Given the description of an element on the screen output the (x, y) to click on. 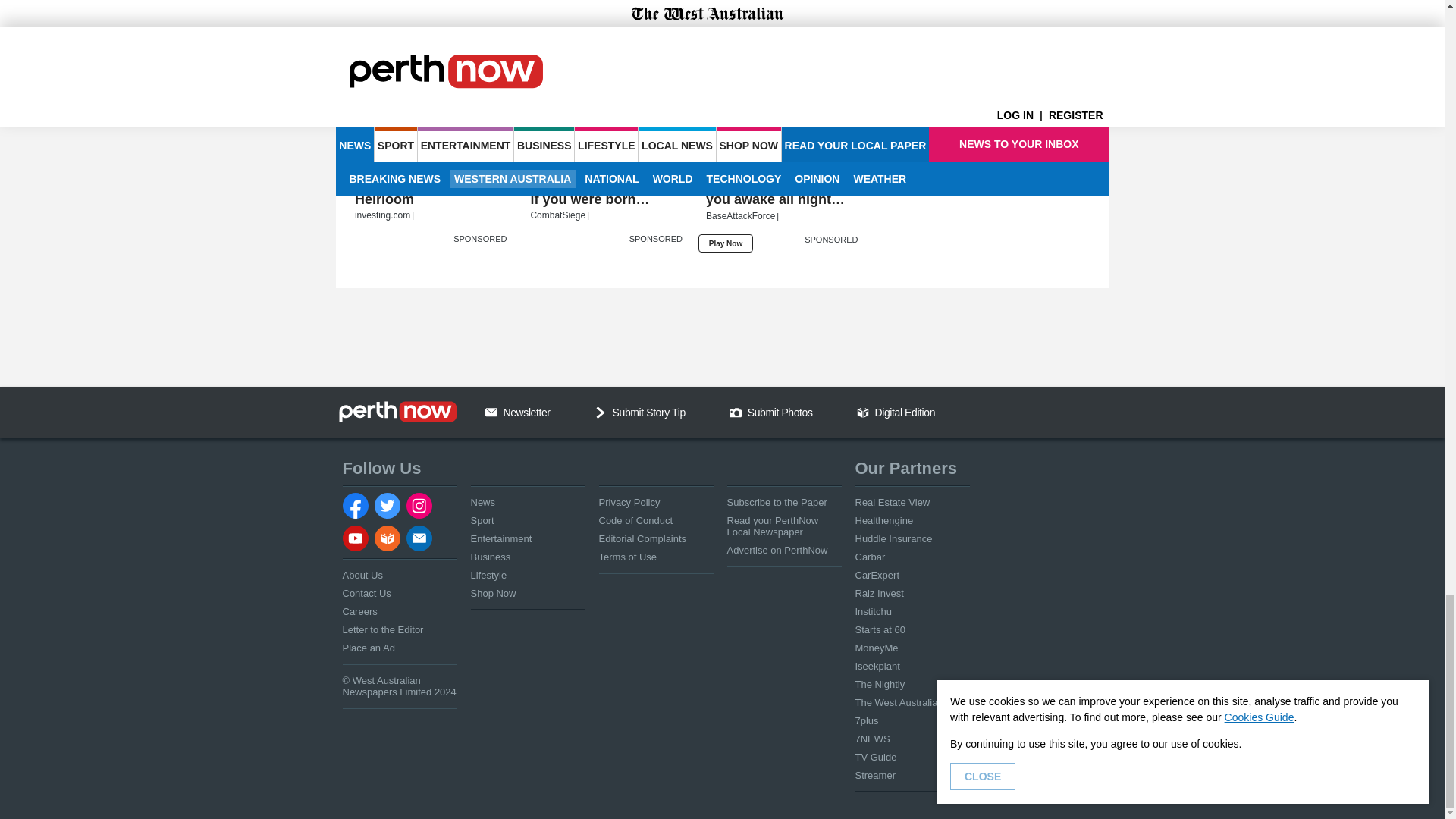
Camera Icon (735, 412)
Chevron Down Icon (600, 412)
Email Us (490, 412)
